Given the description of an element on the screen output the (x, y) to click on. 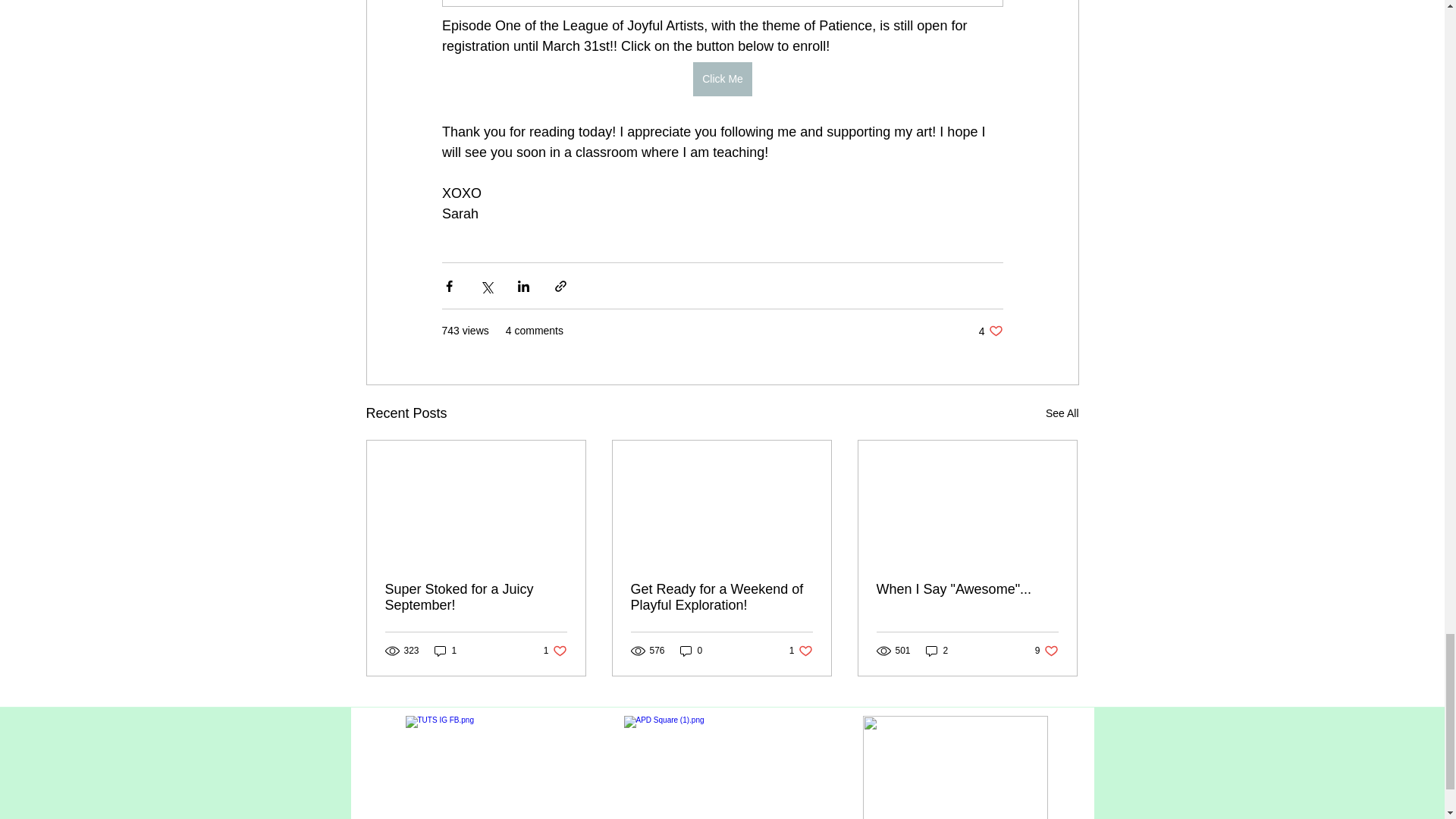
2 (937, 650)
0 (555, 650)
Super Stoked for a Juicy September! (691, 650)
1 (476, 597)
When I Say "Awesome"... (445, 650)
Get Ready for a Weekend of Playful Exploration! (967, 589)
